Given the description of an element on the screen output the (x, y) to click on. 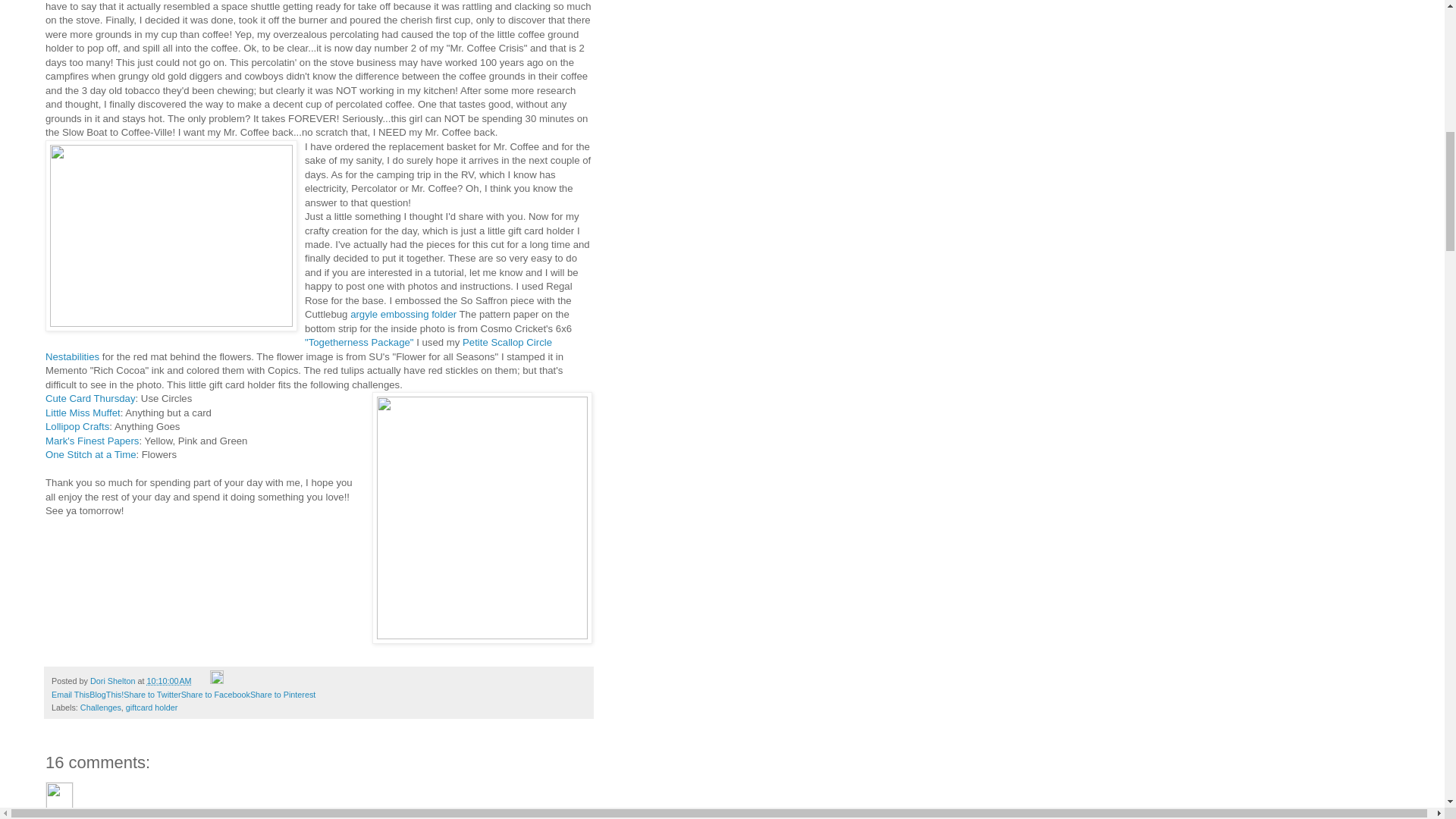
Email This (69, 694)
Little Miss Muffet (82, 412)
Share to Twitter (151, 694)
permanent link (168, 680)
Cute Card Thursday (90, 398)
One Stitch at a Time (90, 454)
Edit Post (216, 680)
Email This (69, 694)
"Togetherness Package" (358, 342)
Email Post (201, 680)
BlogThis! (105, 694)
Share to Pinterest (282, 694)
Mark's Finest Papers (91, 440)
Share to Twitter (151, 694)
Anonymous (59, 795)
